Given the description of an element on the screen output the (x, y) to click on. 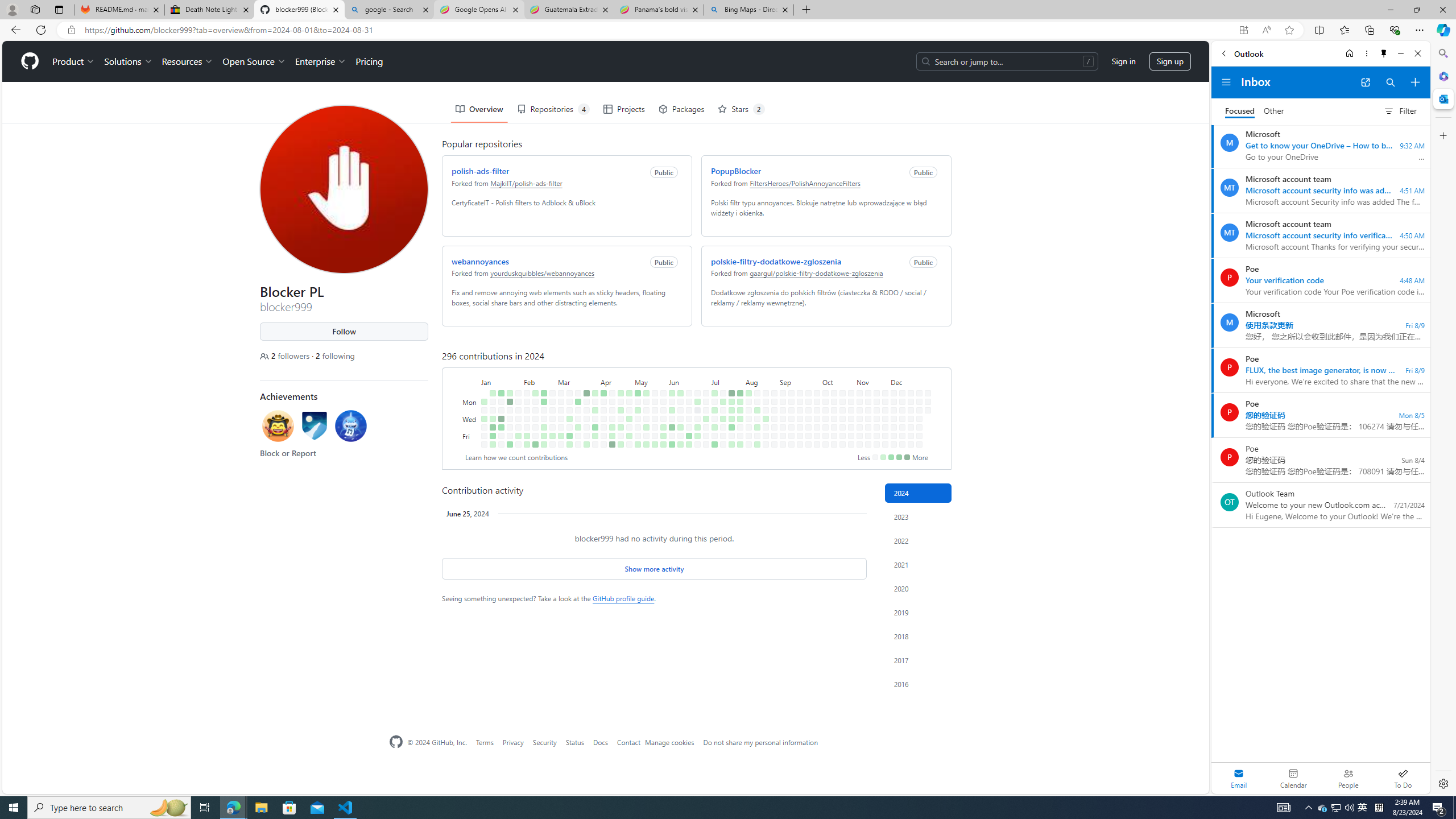
Home (1348, 53)
Microsoft 365 (1442, 76)
Nearshore Americas (319, 68)
Analysis (613, 69)
Get the Weekly Newsletter (854, 69)
Compose new mail (1414, 82)
Folder navigation (1225, 82)
View site information (70, 29)
propanama-whitepaper_1_sidead.png (848, 470)
Close Outlook pane (1442, 98)
Analysis (613, 69)
